Given the description of an element on the screen output the (x, y) to click on. 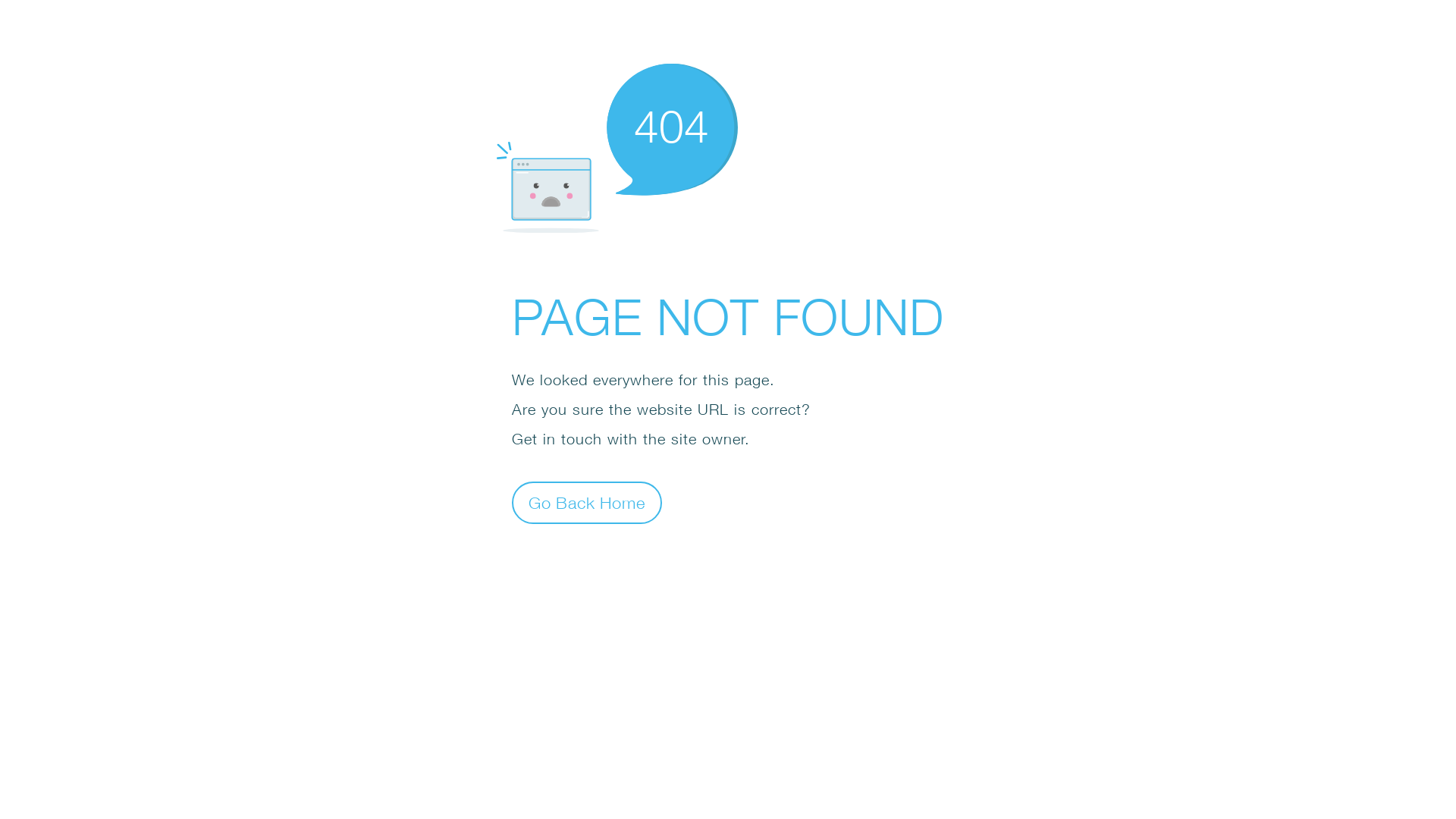
Go Back Home Element type: text (586, 502)
